Given the description of an element on the screen output the (x, y) to click on. 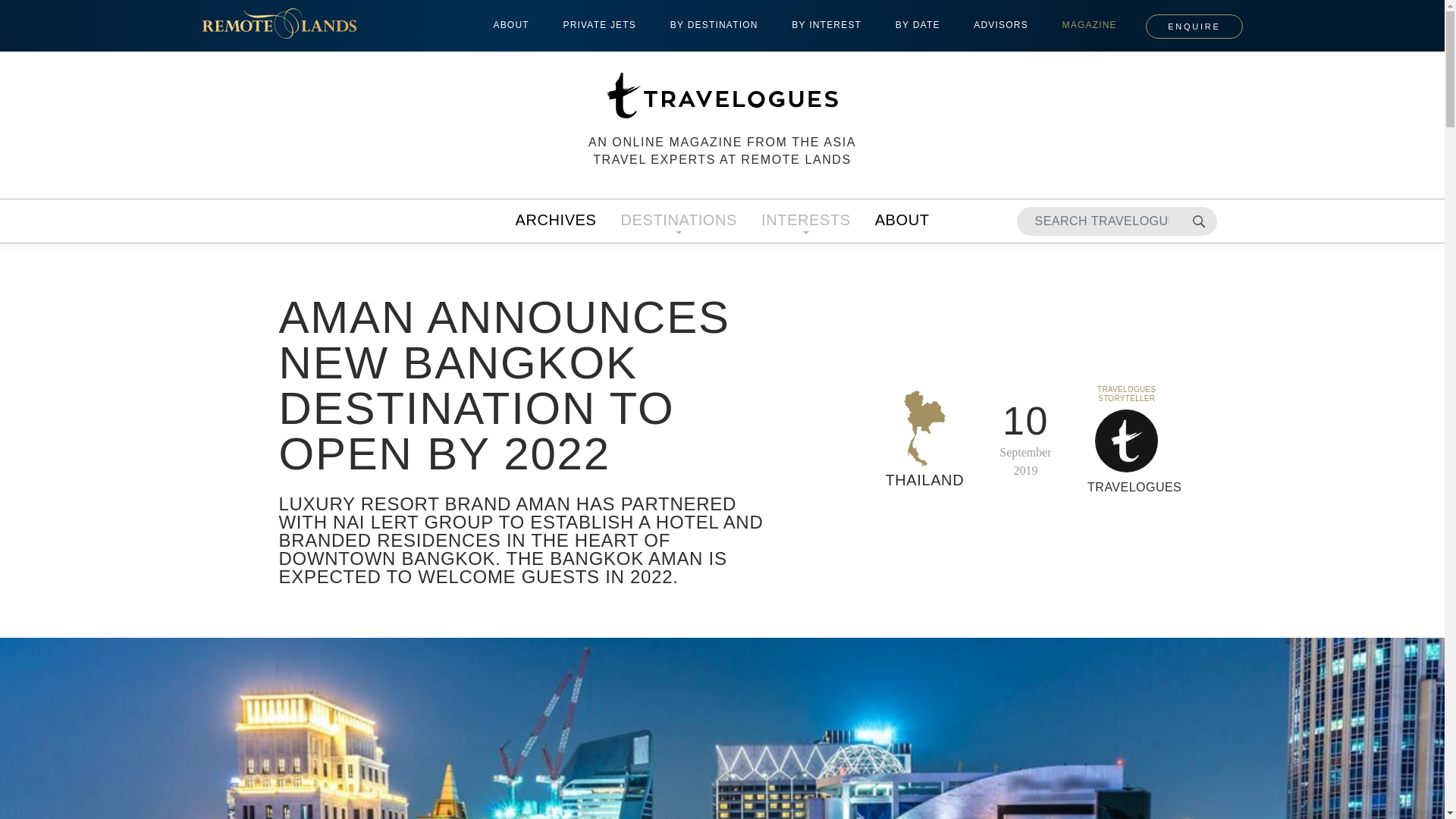
Search (1197, 221)
Search (1197, 221)
ARCHIVES (555, 220)
Search (1197, 221)
DESTINATIONS (678, 220)
Travelogues from Remote Lands (722, 94)
